Given the description of an element on the screen output the (x, y) to click on. 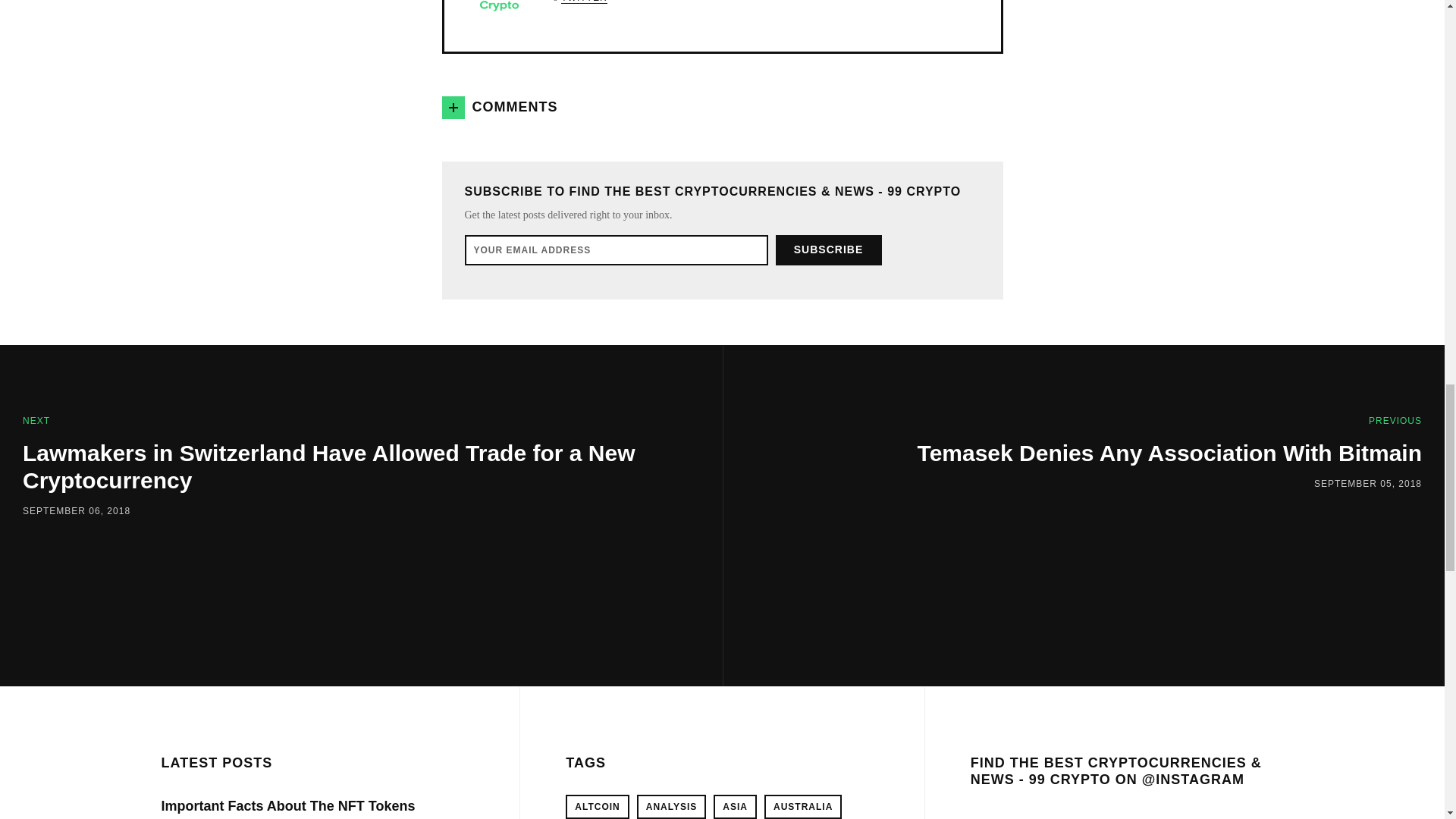
AUSTRALIA (802, 806)
Important Facts About The NFT Tokens (287, 806)
SUBSCRIBE (827, 250)
ASIA (735, 806)
TWITTER (583, 2)
ANALYSIS (671, 806)
ALTCOIN (597, 806)
